Given the description of an element on the screen output the (x, y) to click on. 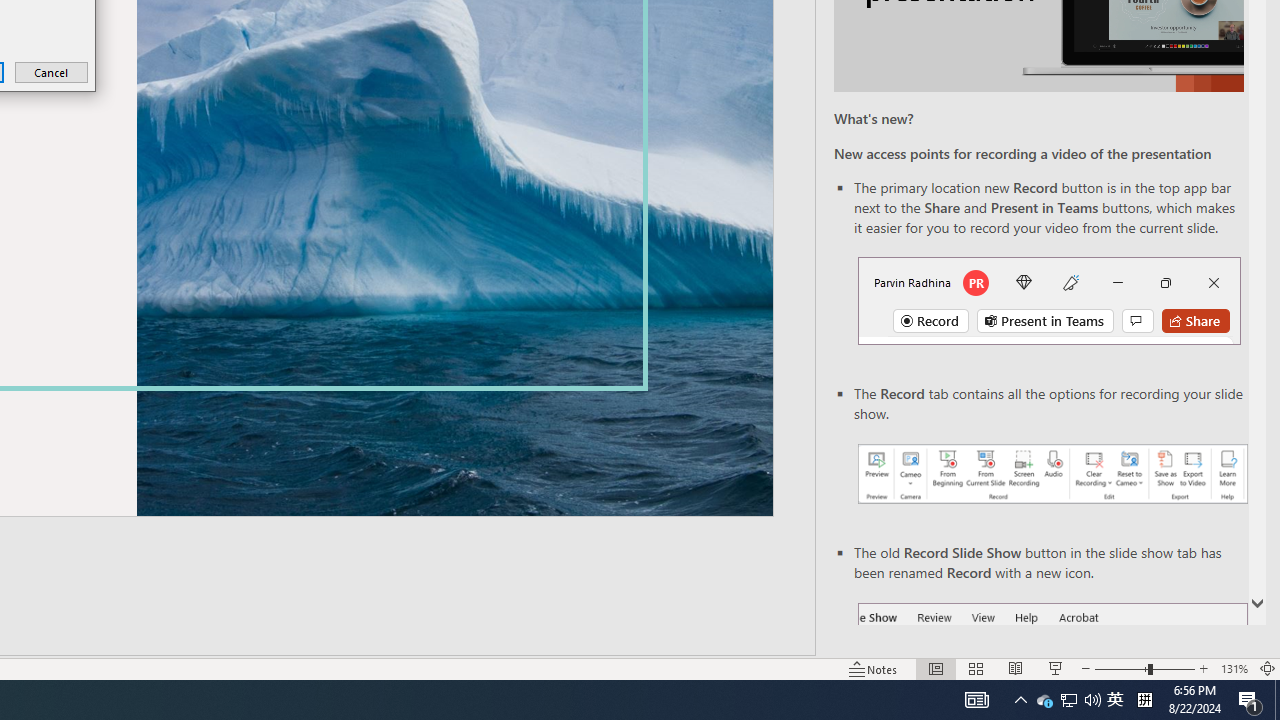
Zoom 131% (1234, 668)
Record your presentations screenshot one (1052, 473)
